Given the description of an element on the screen output the (x, y) to click on. 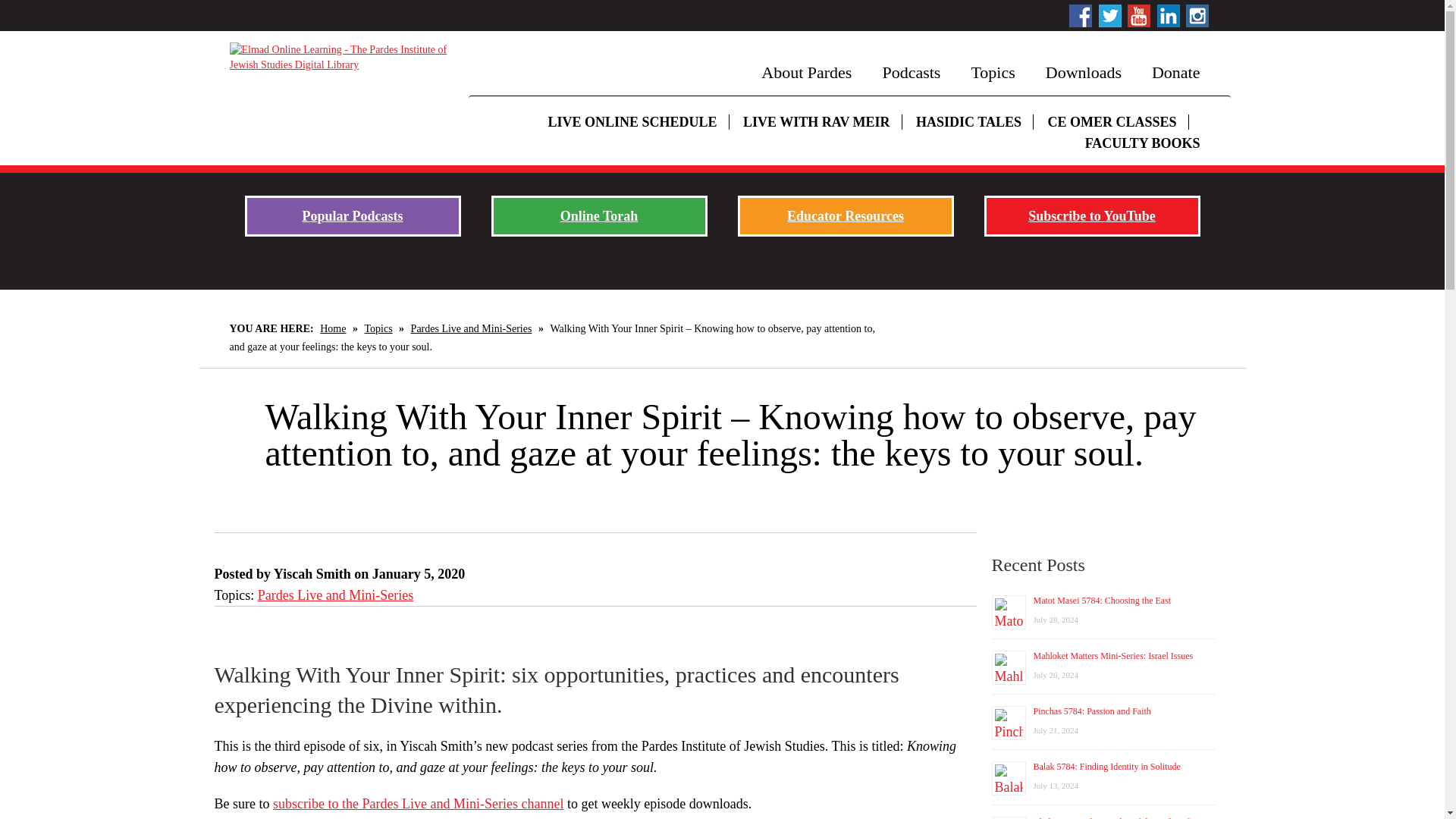
About Pardes (805, 72)
Podcasts (910, 72)
Return to the homepage (340, 57)
